Given the description of an element on the screen output the (x, y) to click on. 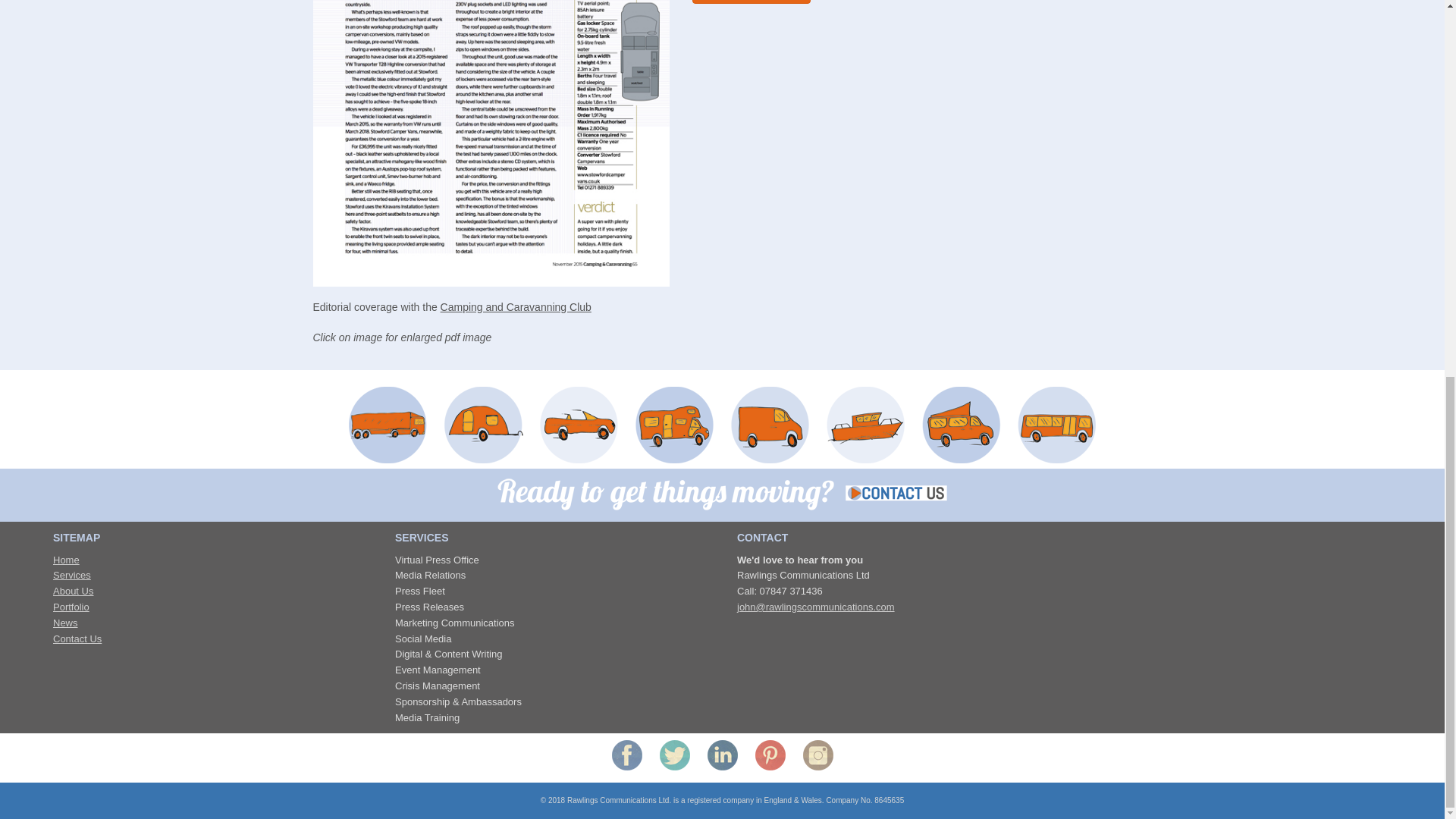
Back to portfolio (750, 2)
Portfolio (70, 606)
Services (71, 574)
Camping and Caravanning Club (516, 306)
Home (66, 559)
News (65, 622)
About Us (72, 591)
Contact Us (76, 638)
